Given the description of an element on the screen output the (x, y) to click on. 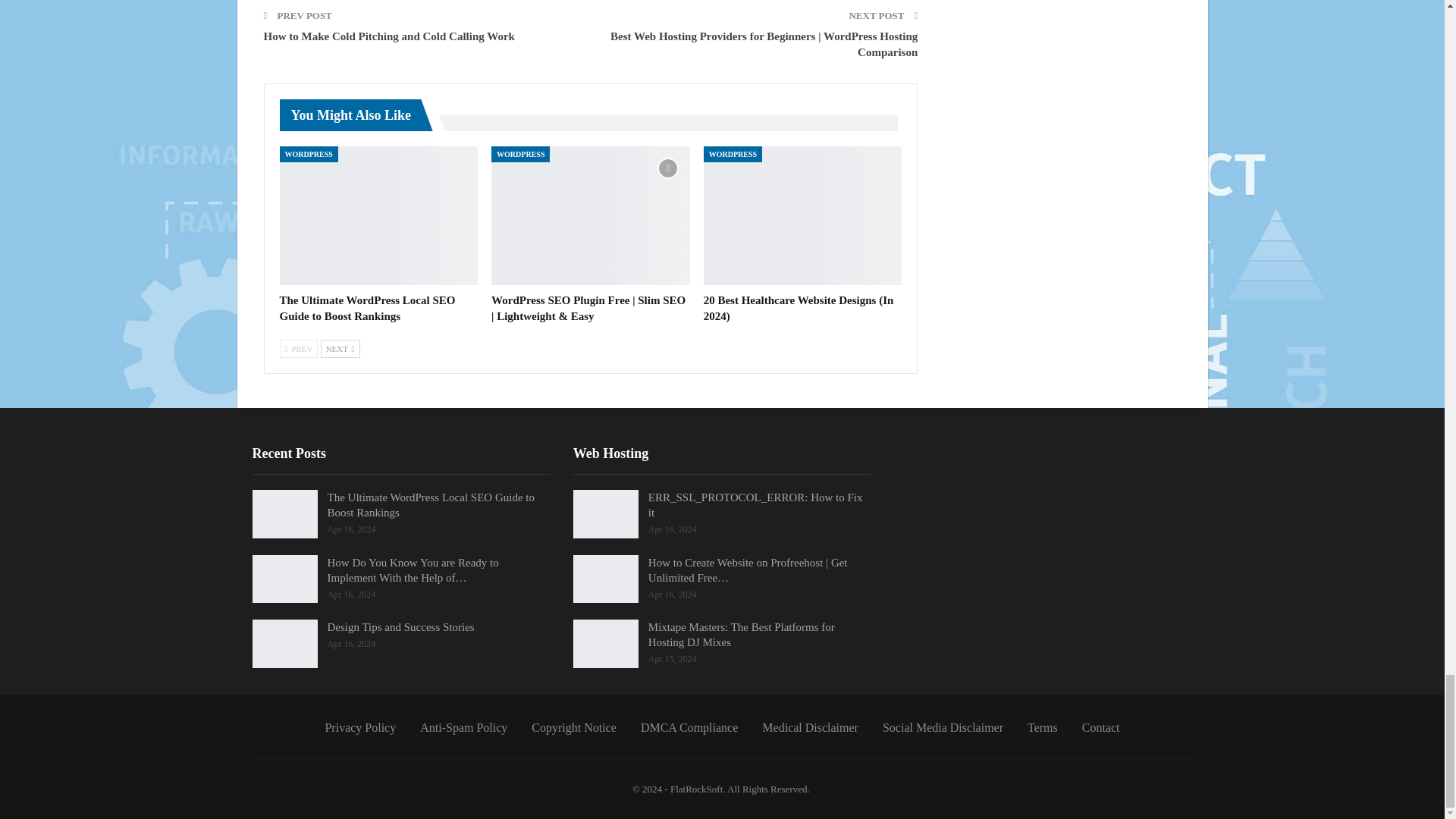
WORDPRESS (308, 154)
The Ultimate WordPress Local SEO Guide to Boost Rankings (378, 215)
The Ultimate WordPress Local SEO Guide to Boost Rankings (366, 308)
Previous (298, 348)
Next (339, 348)
How to Make Cold Pitching and Cold Calling Work (389, 36)
